Given the description of an element on the screen output the (x, y) to click on. 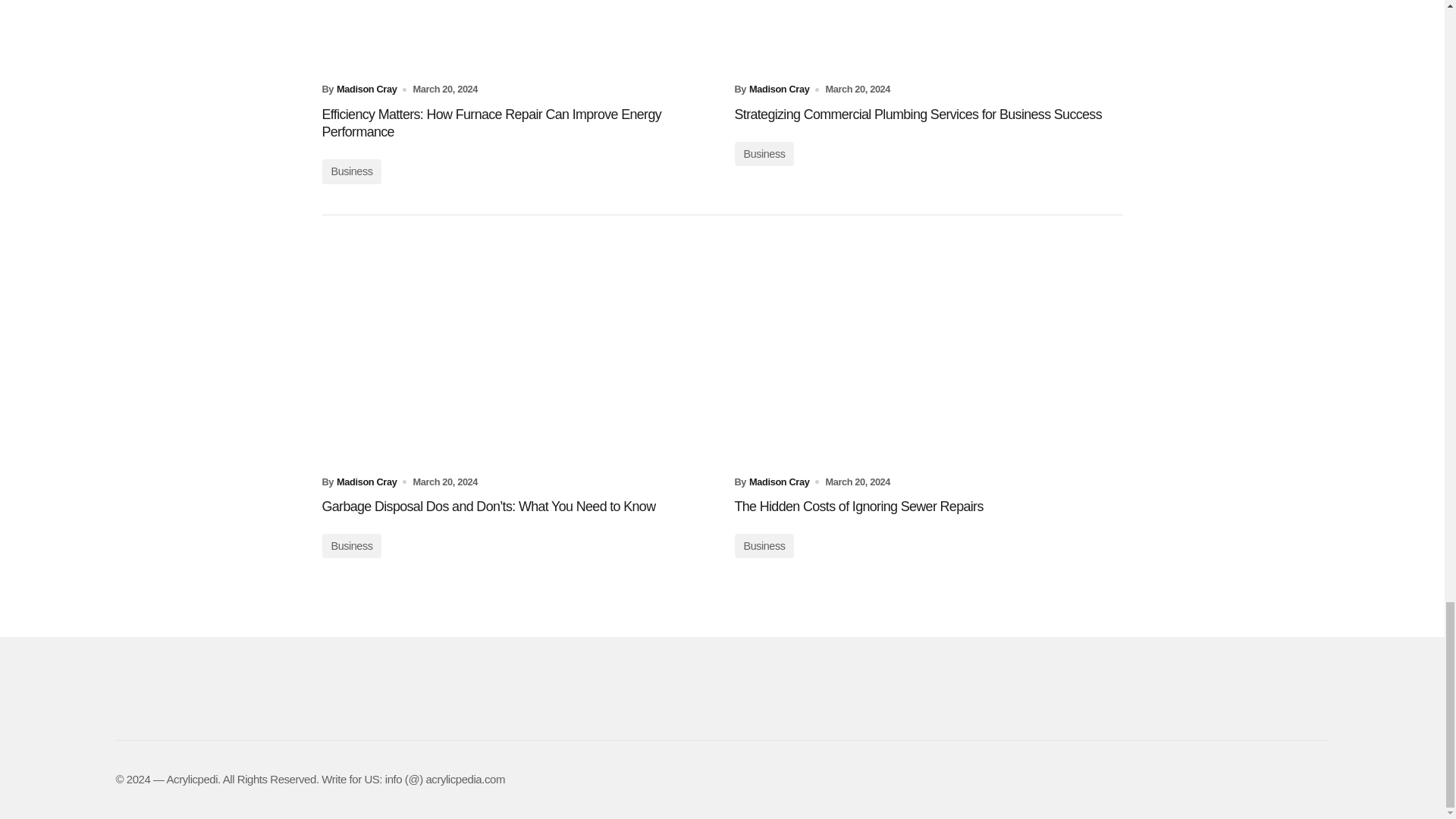
The Hidden Costs of Ignoring Sewer Repairs (927, 354)
